Given the description of an element on the screen output the (x, y) to click on. 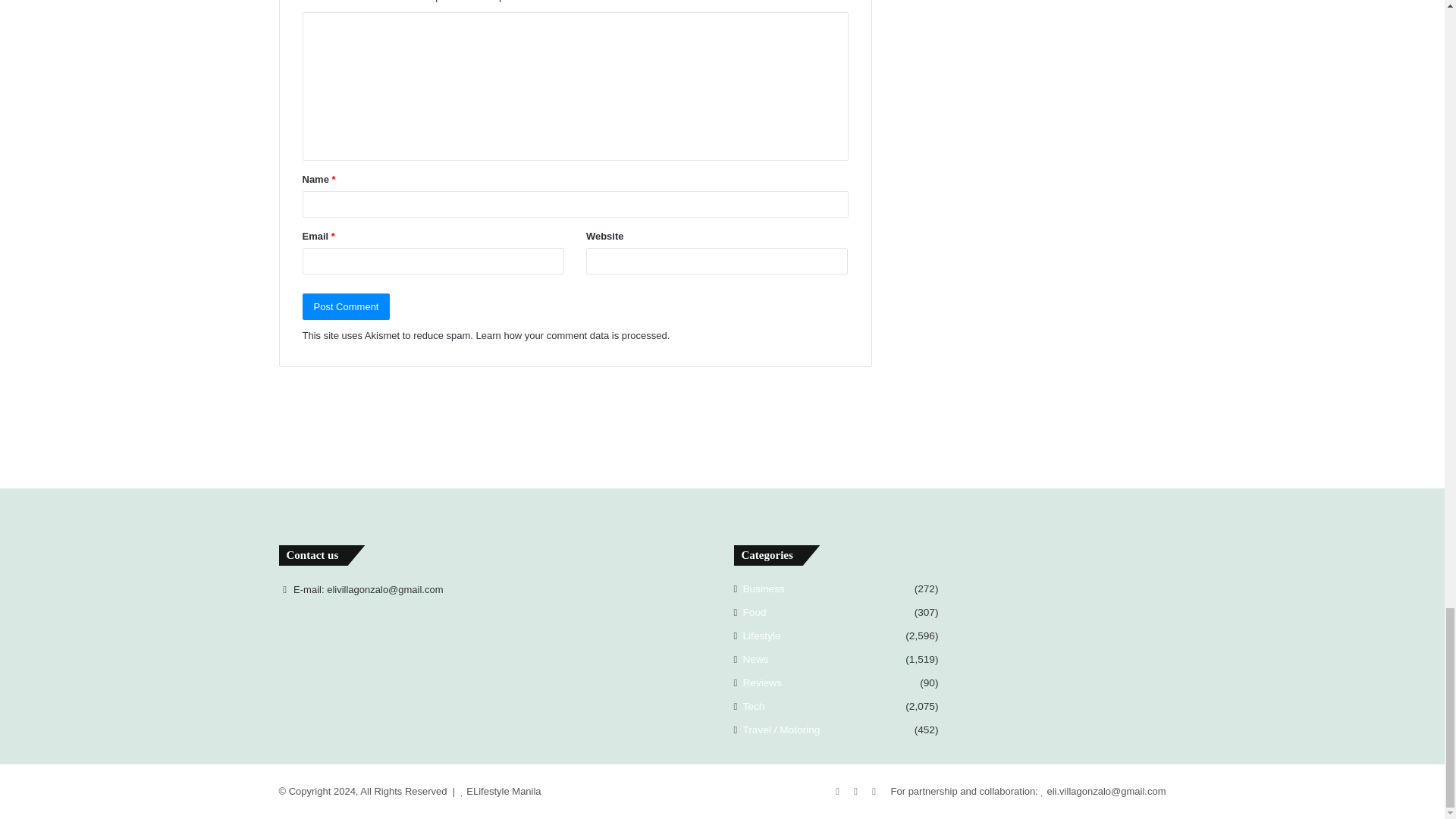
Post Comment (345, 306)
